Given the description of an element on the screen output the (x, y) to click on. 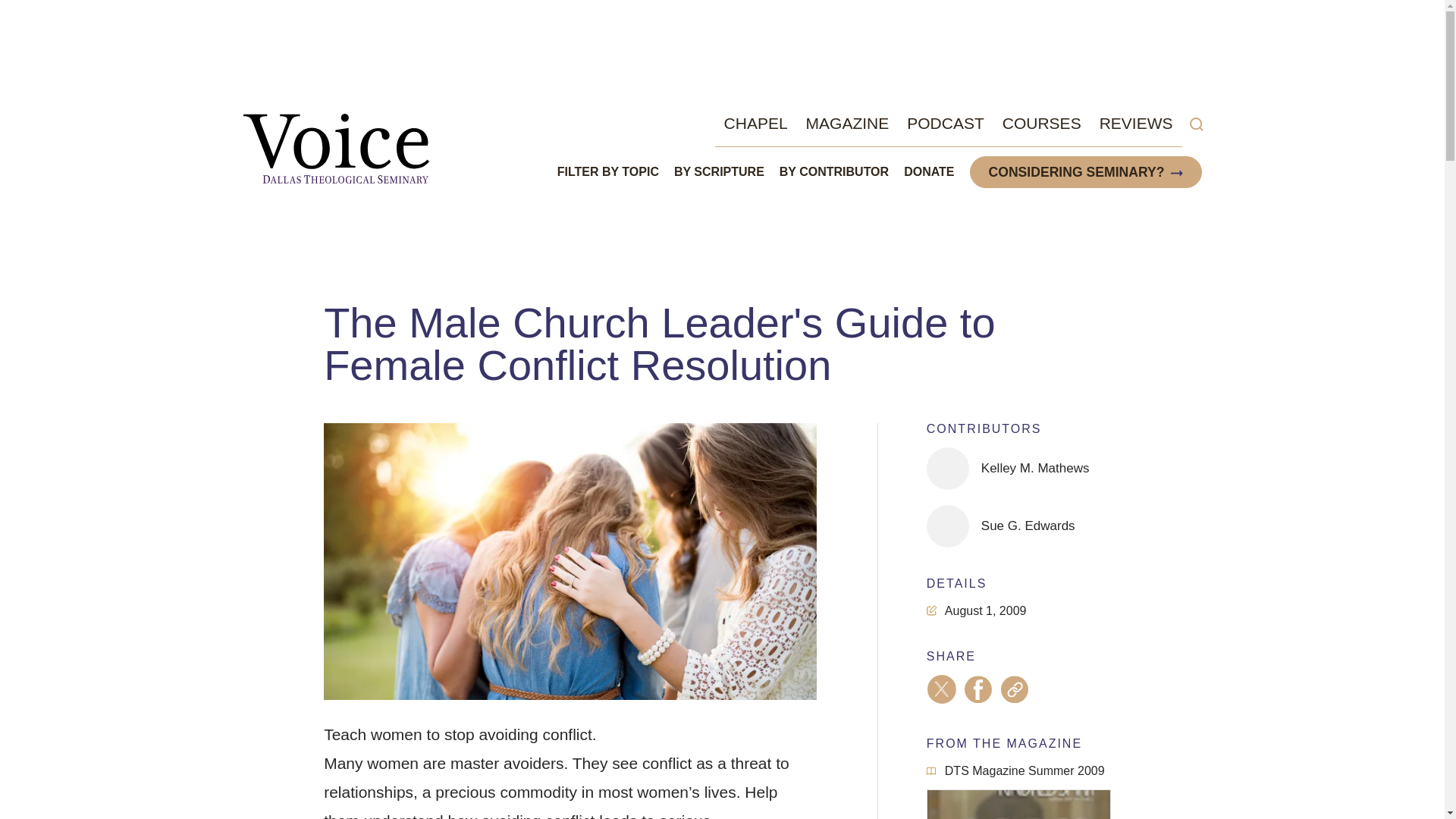
DTS Magazine Summer 2009 (1015, 771)
MAGAZINE (847, 123)
CHAPEL (755, 123)
REVIEWS (1136, 123)
BY CONTRIBUTOR (833, 172)
FILTER BY TOPIC (608, 172)
BY SCRIPTURE (719, 172)
CONSIDERING SEMINARY? (1076, 171)
PODCAST (945, 123)
DONATE (928, 172)
